Given the description of an element on the screen output the (x, y) to click on. 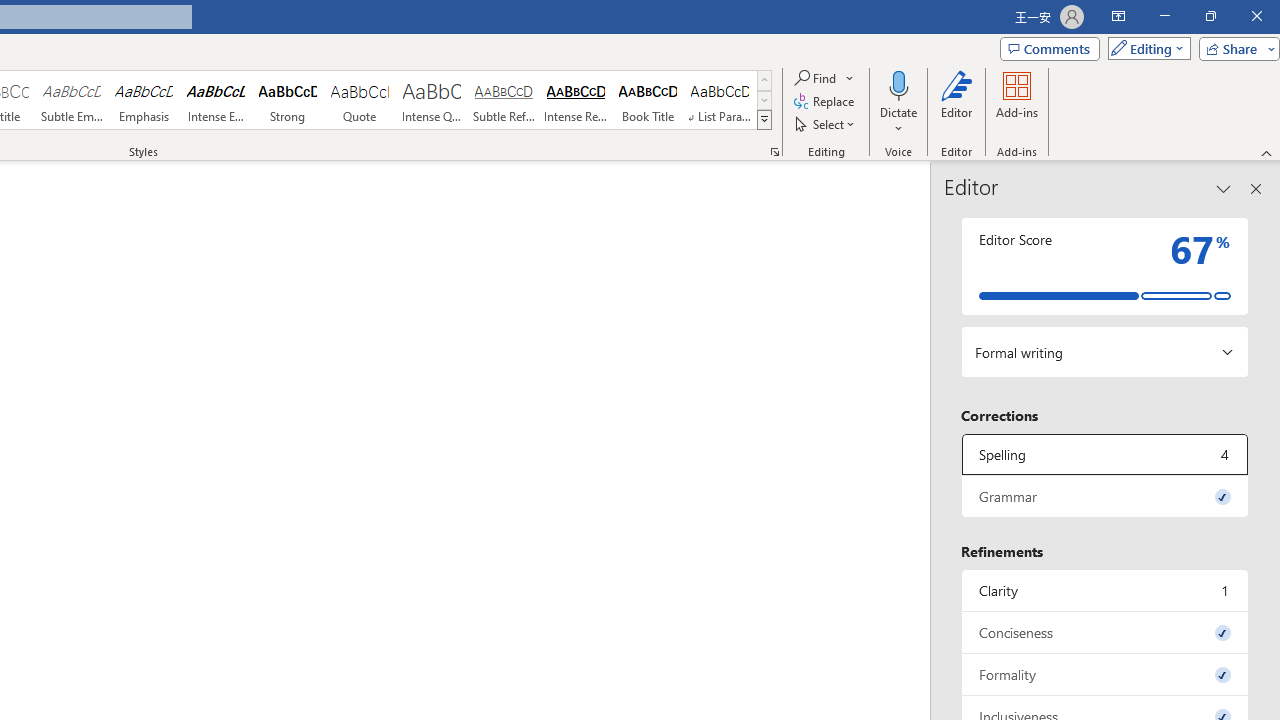
Book Title (647, 100)
Subtle Reference (504, 100)
Quote (359, 100)
Grammar, 0 issues. Press space or enter to review items. (1105, 495)
Editor Score 67% (1105, 266)
